Given the description of an element on the screen output the (x, y) to click on. 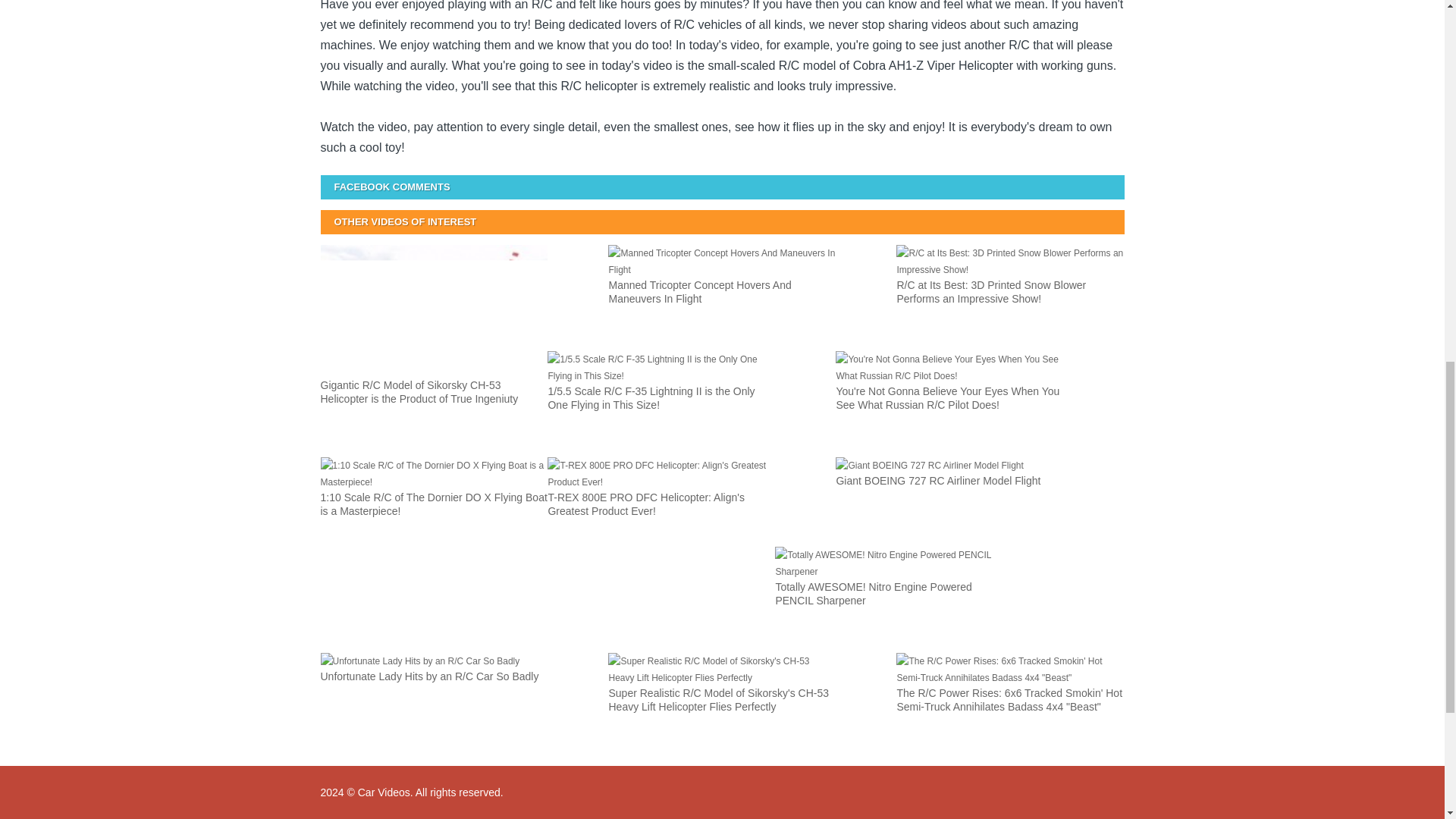
Manned Tricopter Concept Hovers And Maneuvers In Flight (721, 292)
Giant BOEING 727 RC Airliner Model Flight (948, 496)
Totally AWESOME! Nitro Engine Powered PENCIL Sharpener (888, 594)
